Given the description of an element on the screen output the (x, y) to click on. 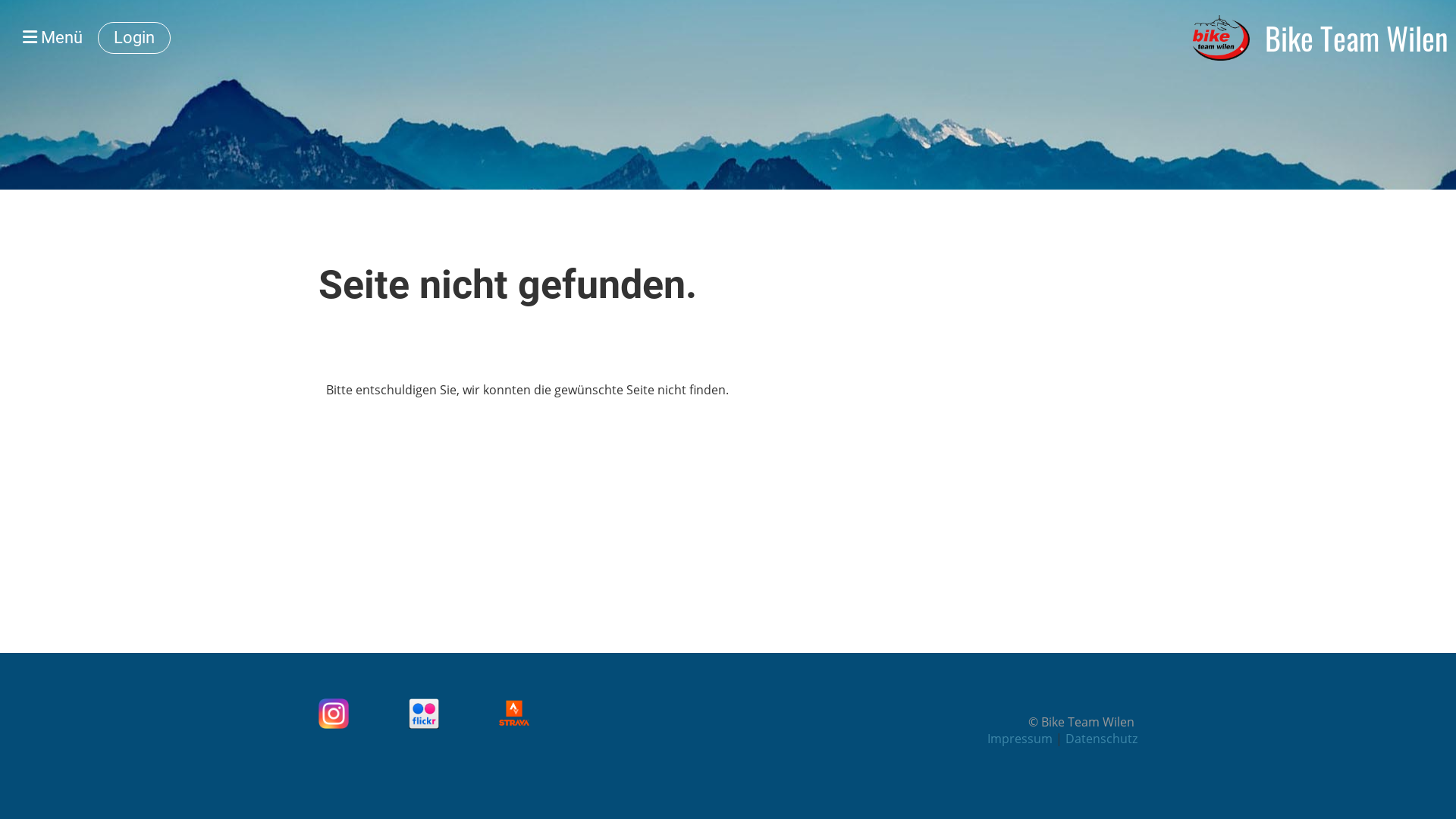
Login Element type: text (133, 37)
Impressum Element type: text (1021, 738)
Bike Team Wilen Element type: text (1356, 37)
Datenschutz Element type: text (1101, 738)
